Given the description of an element on the screen output the (x, y) to click on. 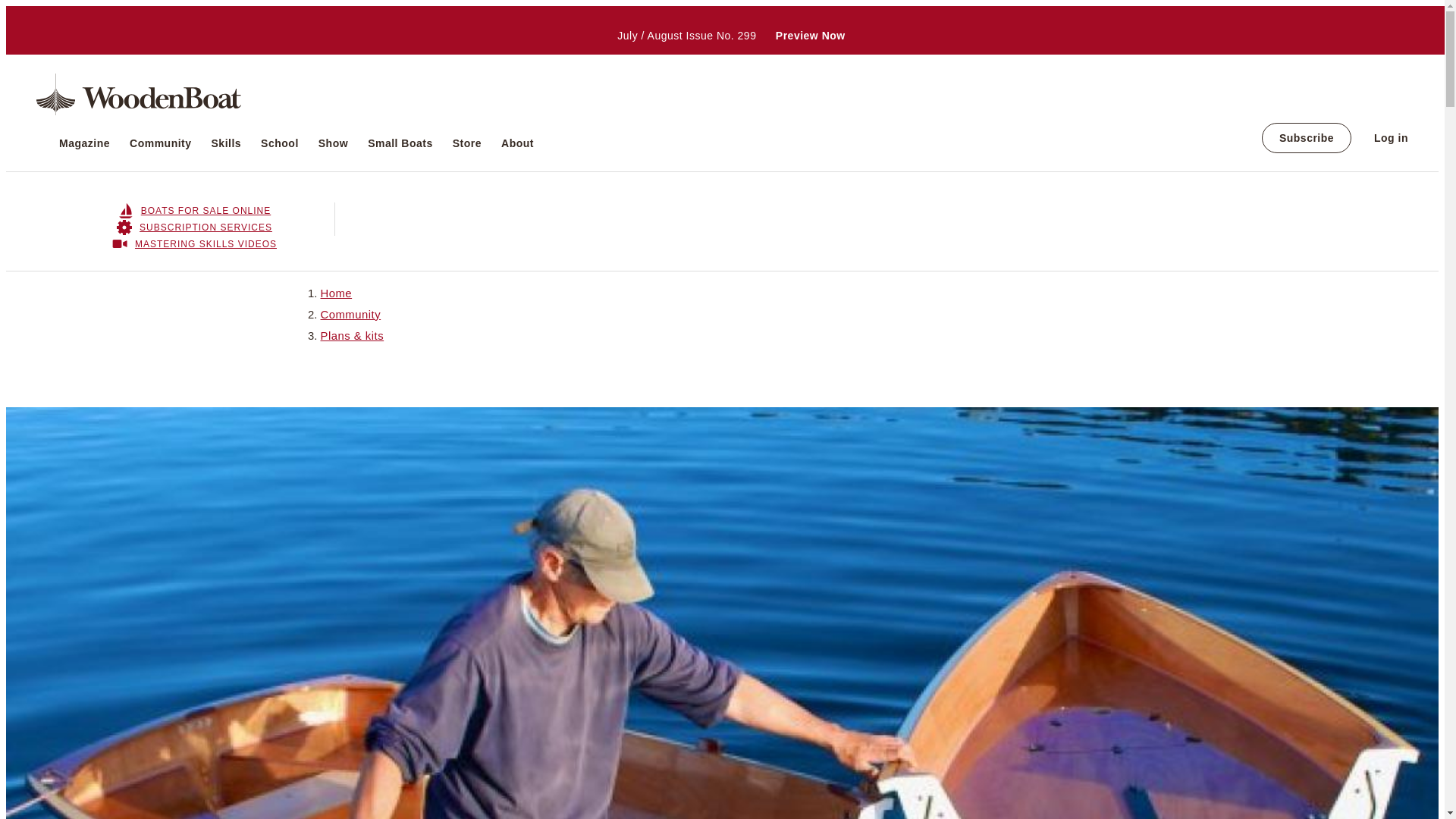
Skills (226, 143)
Small Boats (400, 143)
Log in (1390, 137)
About (517, 143)
Show (332, 143)
Store (466, 143)
Skip to main content (722, 7)
Preview Now (810, 35)
Subscribe (1306, 137)
School (279, 143)
Community (160, 143)
Magazine (84, 143)
